Given the description of an element on the screen output the (x, y) to click on. 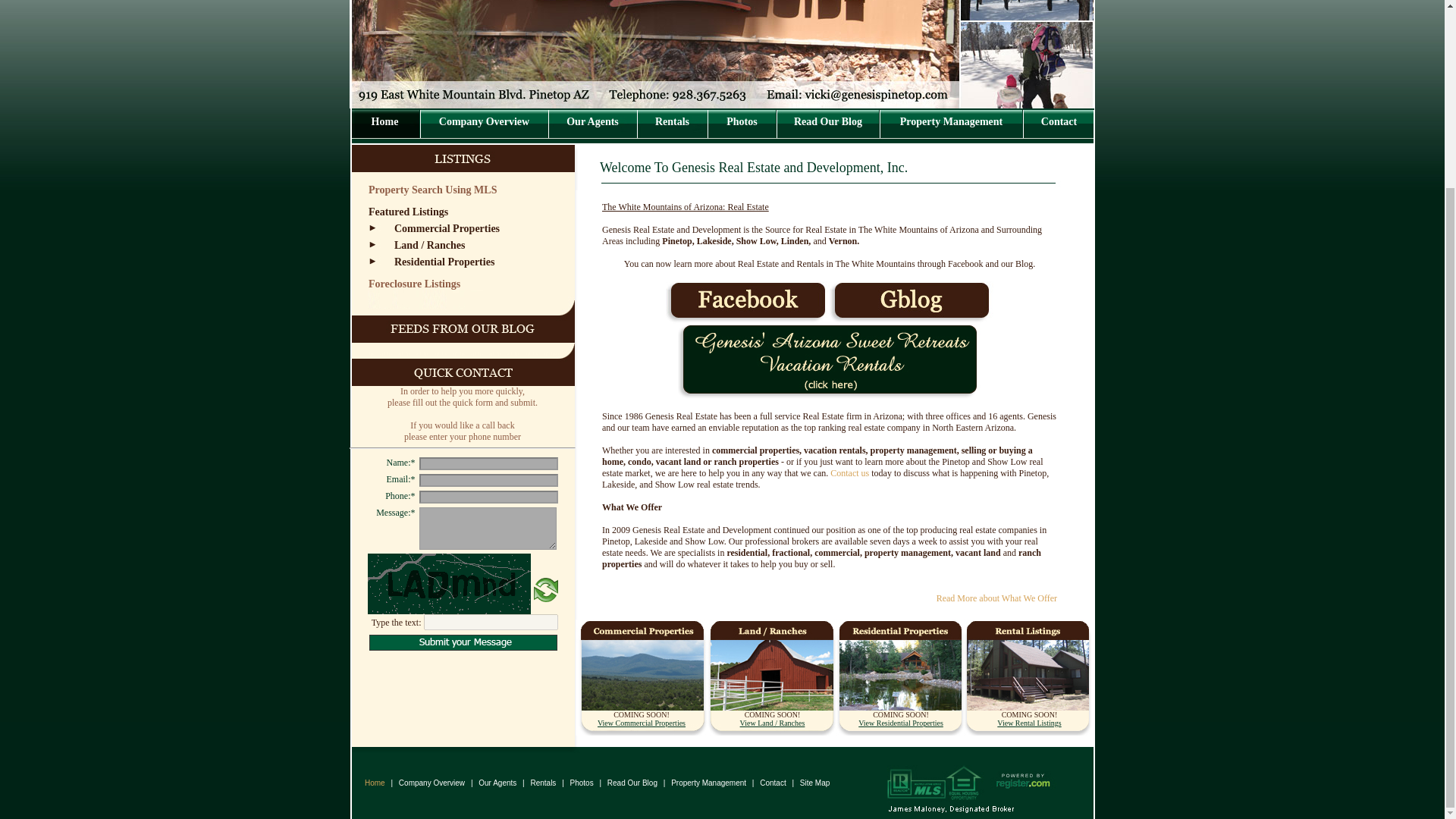
Home (368, 782)
Company Overview (484, 121)
View Rental Listings (1029, 723)
Contact (772, 782)
Property Management (709, 782)
View Commercial Properties (640, 723)
Read More about What We Offer (996, 598)
Refresh Image (545, 598)
Rentals (671, 121)
Rentals (542, 782)
Foreclosure Listings (414, 283)
Company Overview (431, 782)
View Residential Properties (901, 723)
Contact us (849, 472)
Photos (581, 782)
